Given the description of an element on the screen output the (x, y) to click on. 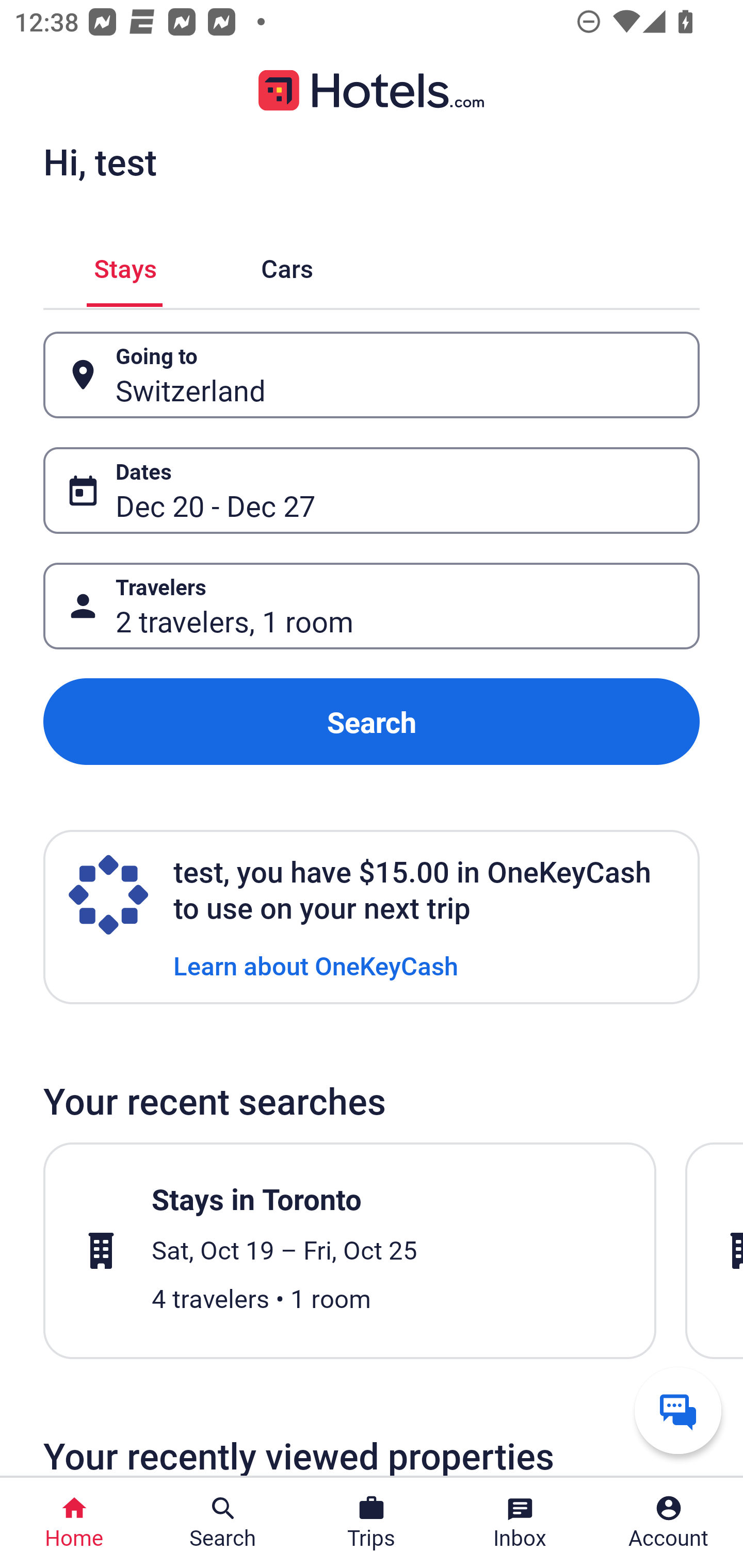
Hi, test (99, 161)
Cars (286, 265)
Going to Button Switzerland (371, 375)
Dates Button Dec 20 - Dec 27 (371, 489)
Travelers Button 2 travelers, 1 room (371, 605)
Search (371, 721)
Learn about OneKeyCash Learn about OneKeyCash Link (315, 964)
Get help from a virtual agent (677, 1410)
Search Search Button (222, 1522)
Trips Trips Button (371, 1522)
Inbox Inbox Button (519, 1522)
Account Profile. Button (668, 1522)
